Given the description of an element on the screen output the (x, y) to click on. 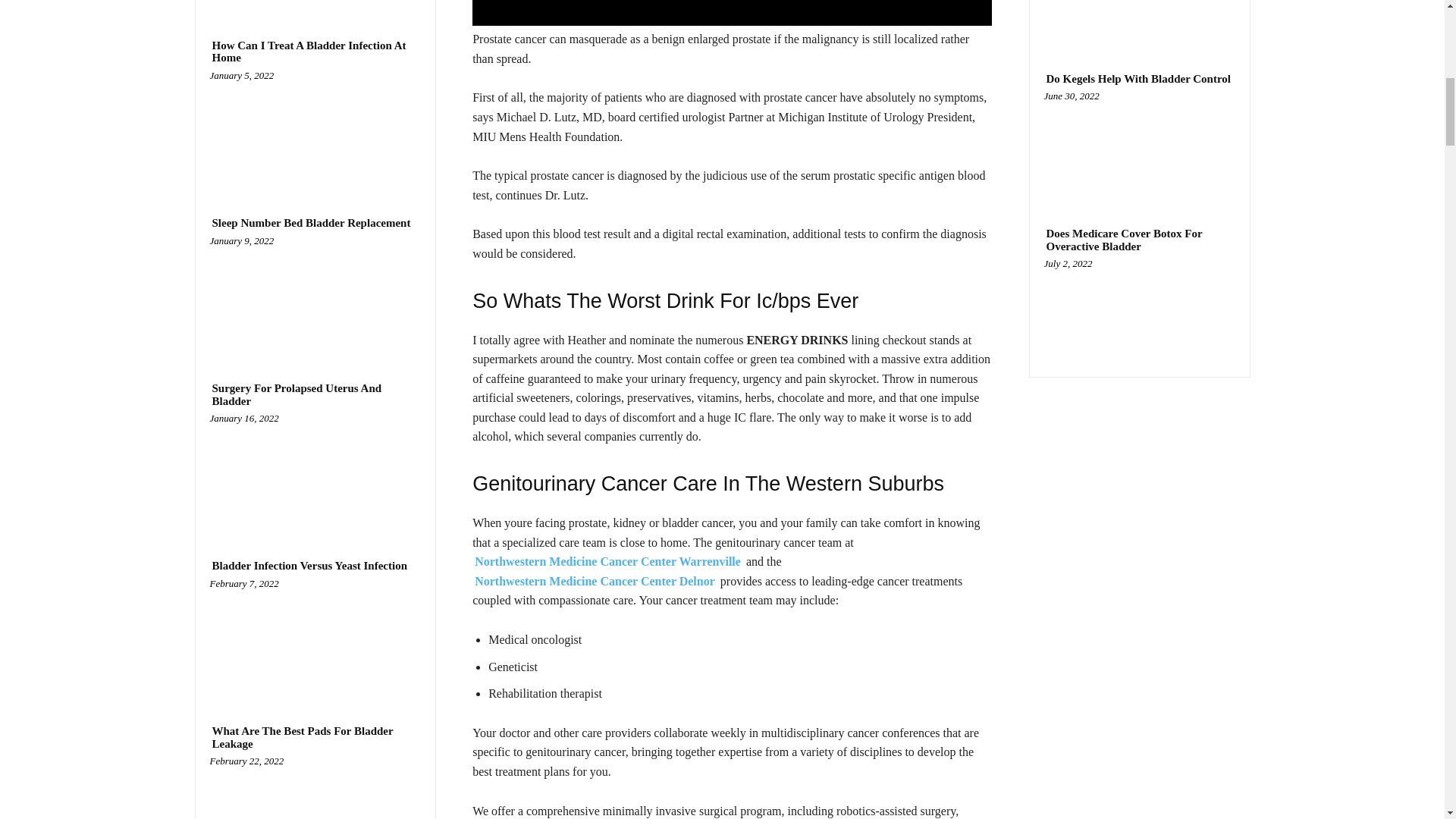
How Can I Treat A Bladder Infection At Home (314, 131)
How Can I Treat A Bladder Infection At Home (314, 51)
I Feel A Lot Of Pressure On My Bladder (314, 3)
